Given the description of an element on the screen output the (x, y) to click on. 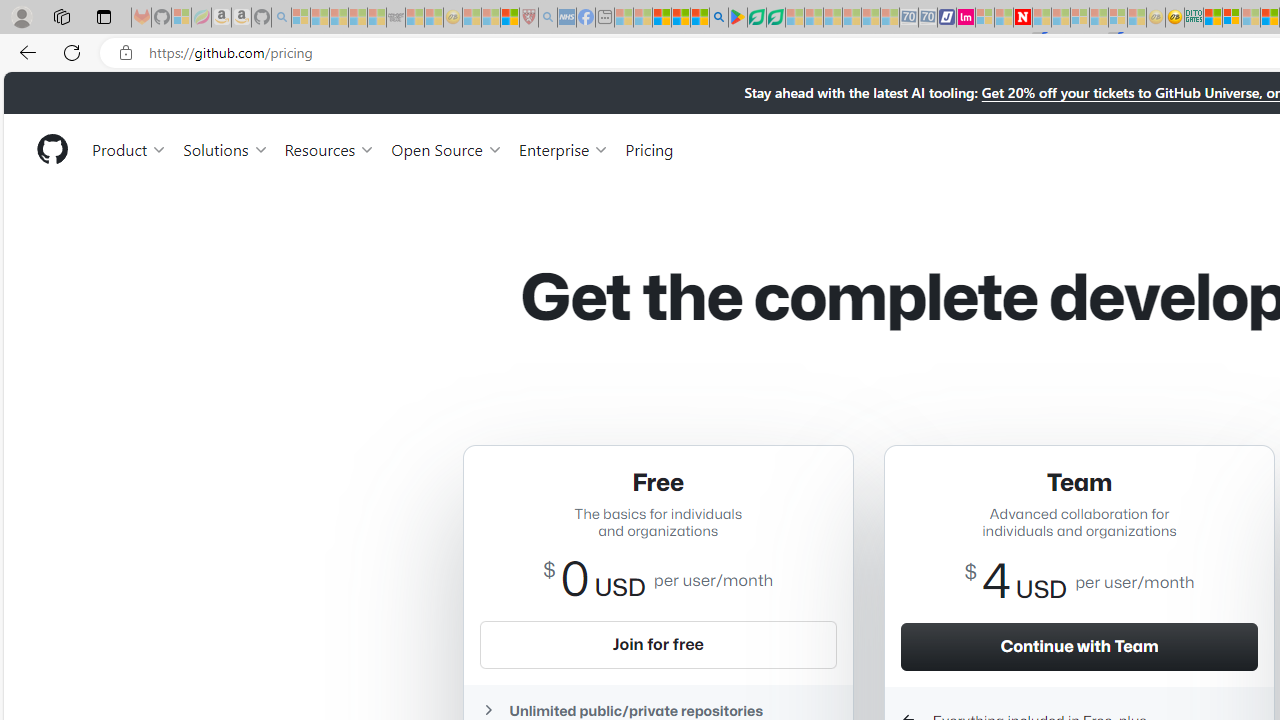
Product (130, 148)
Bluey: Let's Play! - Apps on Google Play (737, 17)
Open Source (446, 148)
